Given the description of an element on the screen output the (x, y) to click on. 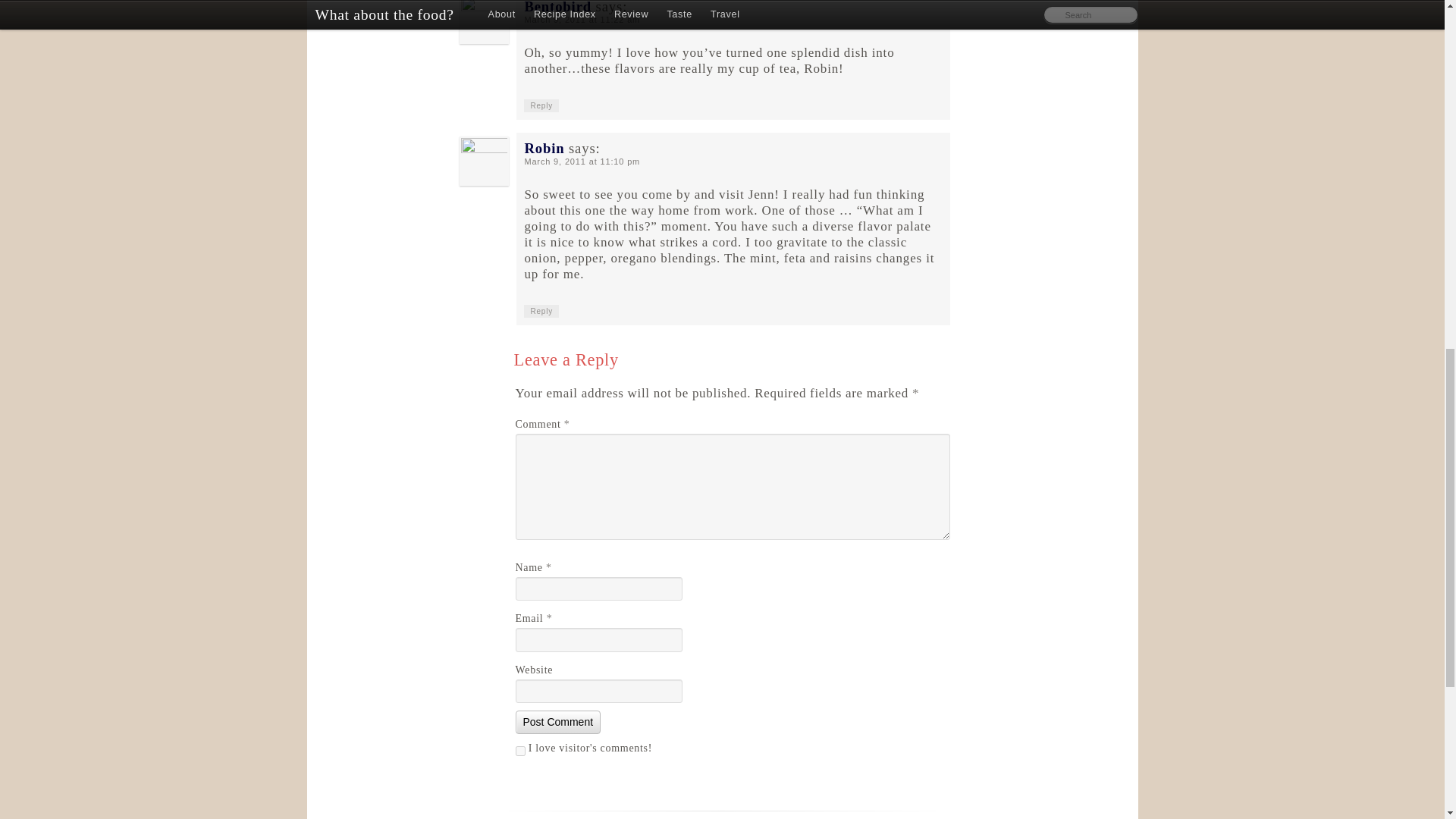
Bentobird (557, 7)
March 9, 2011 at 11:22 am (582, 19)
Post Comment (558, 721)
Post Comment (558, 721)
on (520, 750)
Reply (541, 105)
Reply (541, 310)
March 9, 2011 at 11:10 pm (582, 161)
Robin (544, 148)
